Given the description of an element on the screen output the (x, y) to click on. 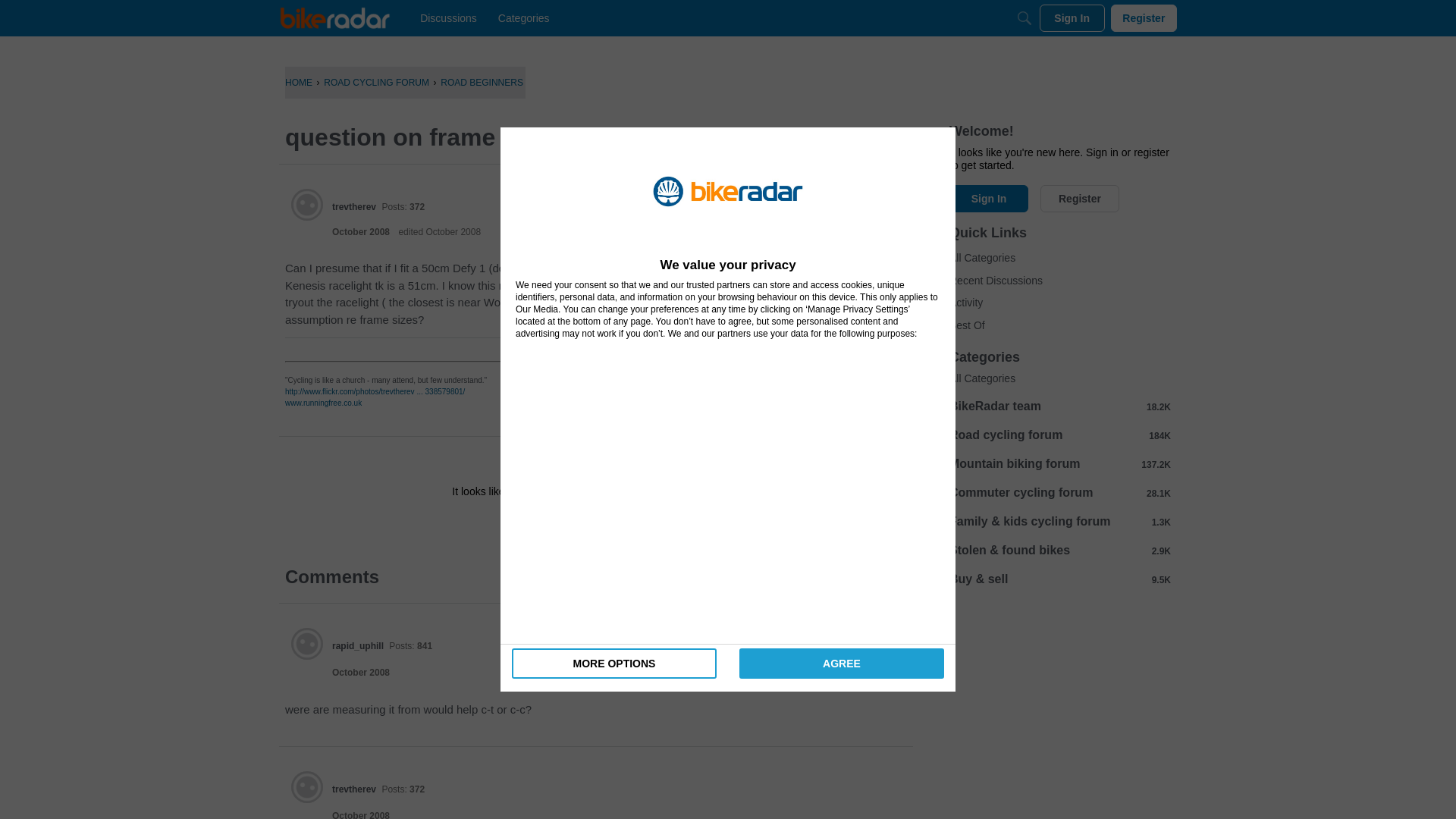
Discussions (448, 17)
trevtherev (307, 204)
Edited October 19, 2008 1:46PM. (438, 231)
October 2008 (360, 672)
October 2008 (360, 231)
ROAD BEGINNERS (481, 81)
October 19, 2008 8:38AM (360, 814)
trevtherev (353, 206)
Register (638, 524)
trevtherev (307, 787)
